Given the description of an element on the screen output the (x, y) to click on. 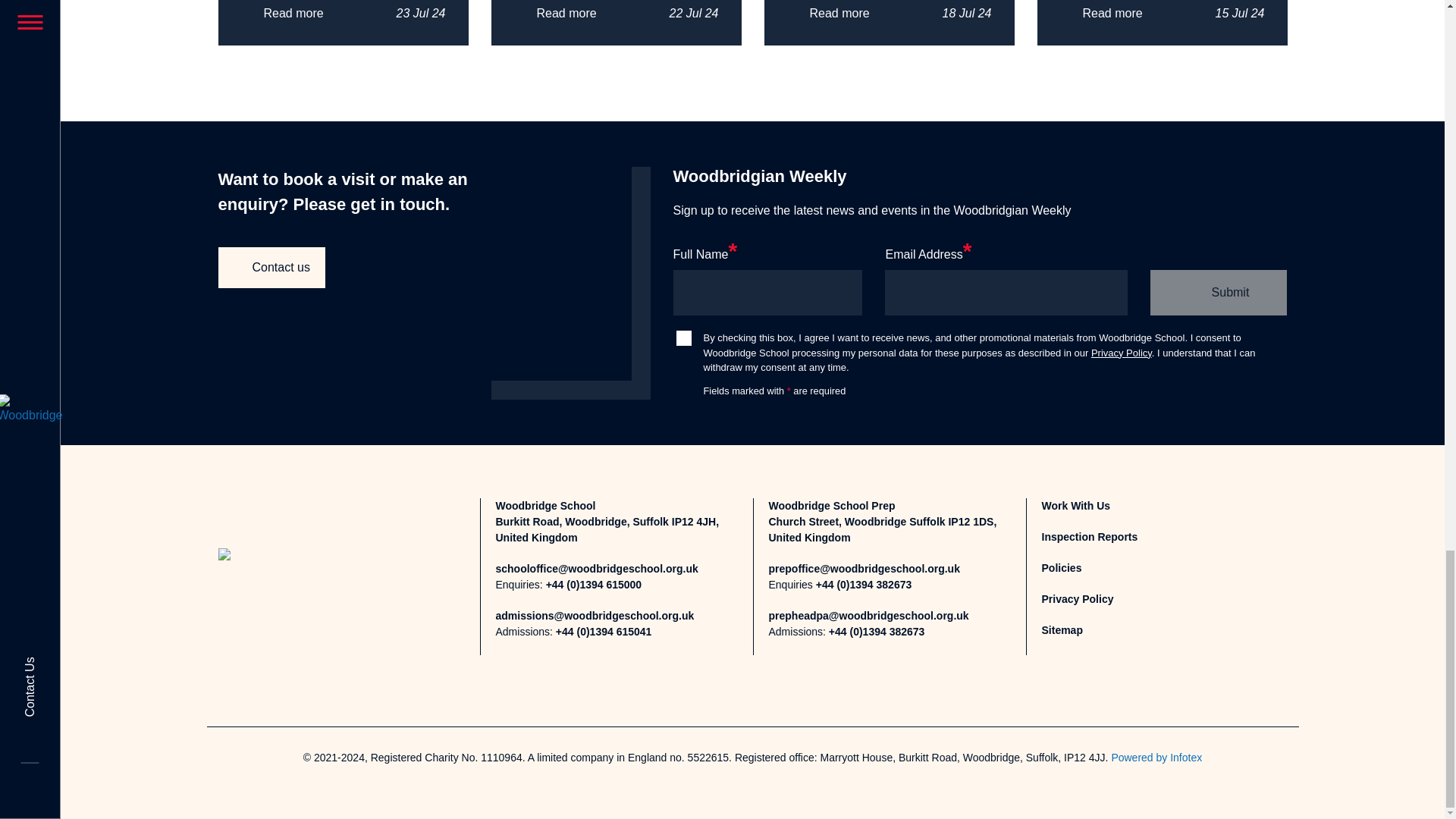
Submit (1218, 292)
